Given the description of an element on the screen output the (x, y) to click on. 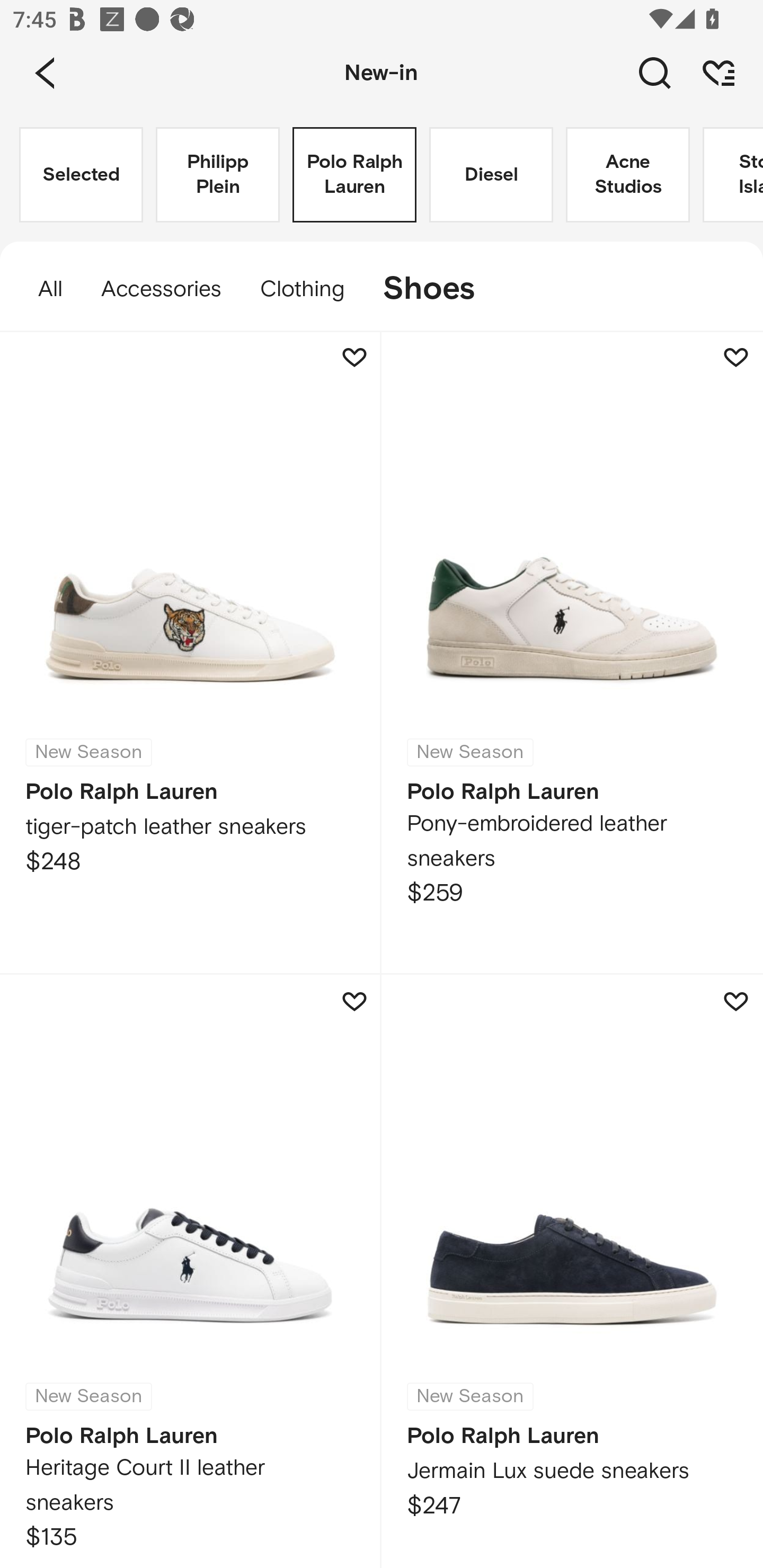
Selected (81, 174)
Philipp Plein (217, 174)
Polo Ralph Lauren (354, 174)
Diesel (490, 174)
Acne Studios (627, 174)
All (40, 288)
Accessories (160, 288)
Clothing (301, 288)
Shoes (438, 288)
